Given the description of an element on the screen output the (x, y) to click on. 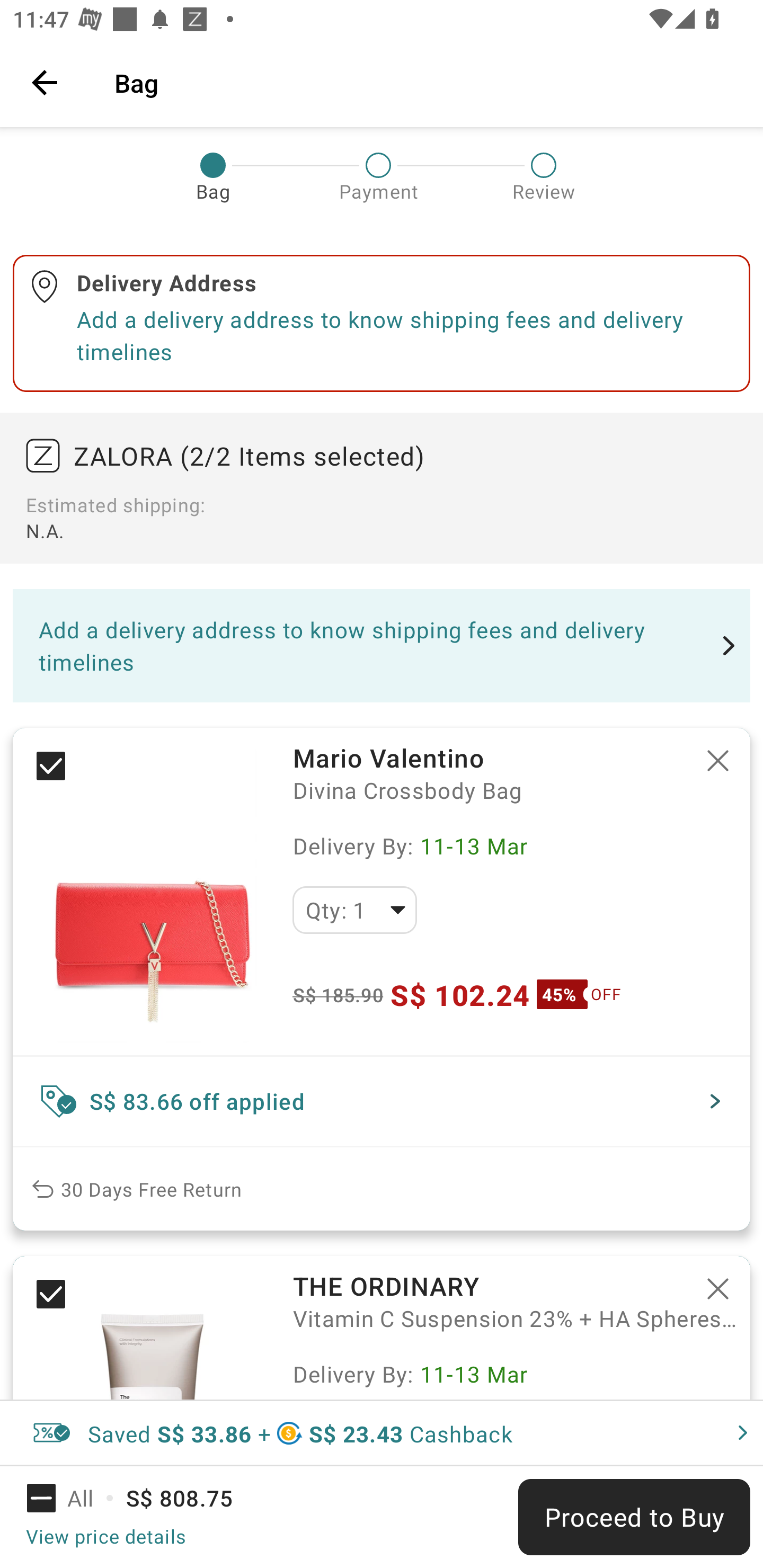
Navigate up (44, 82)
Bag (426, 82)
Qty: 1 (354, 909)
S$ 83.66 off applied (381, 1101)
Saved S$ 33.86 +   S$ 23.43 Cashback (381, 1432)
All (72, 1497)
Proceed to Buy (634, 1516)
View price details (105, 1535)
